Given the description of an element on the screen output the (x, y) to click on. 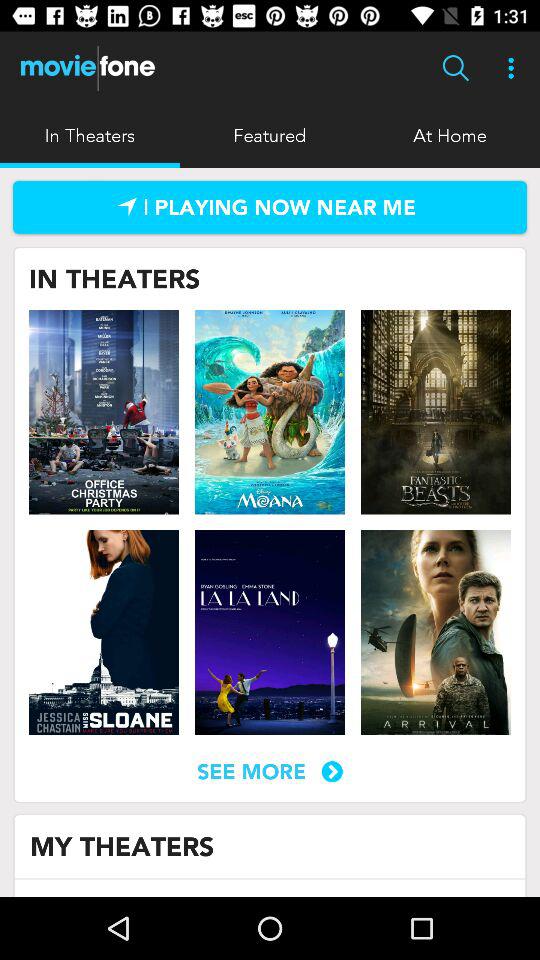
go to movie 's page (104, 411)
